Given the description of an element on the screen output the (x, y) to click on. 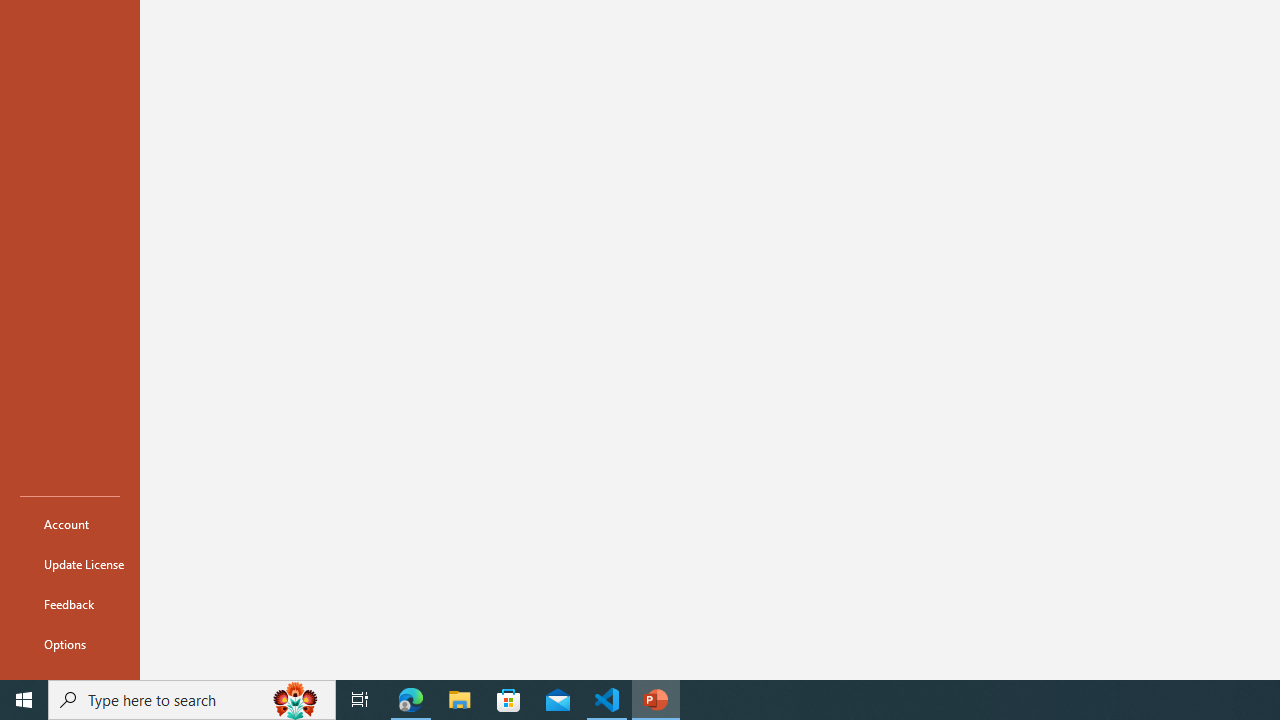
Feedback (69, 603)
Account (69, 523)
Options (69, 643)
Update License (69, 563)
